Given the description of an element on the screen output the (x, y) to click on. 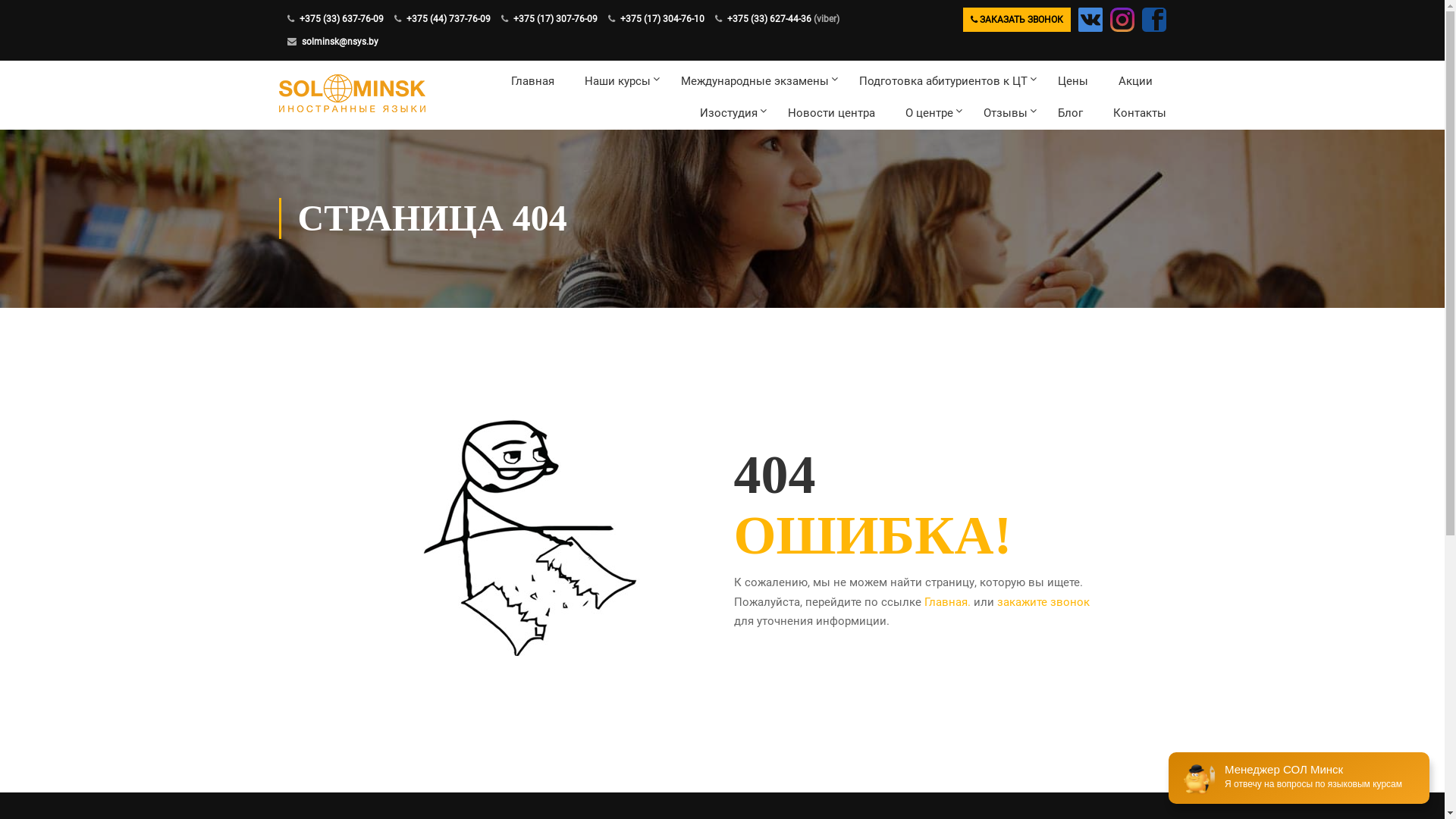
+375 (17) 304-76-10 Element type: text (662, 18)
+375 (44) 737-76-09 Element type: text (448, 18)
solminsk@nsys.by Element type: text (339, 41)
+375 (33) 627-44-36 Element type: text (768, 18)
+375 (17) 307-76-09 Element type: text (554, 18)
+375 (33) 637-76-09 Element type: text (340, 18)
